Given the description of an element on the screen output the (x, y) to click on. 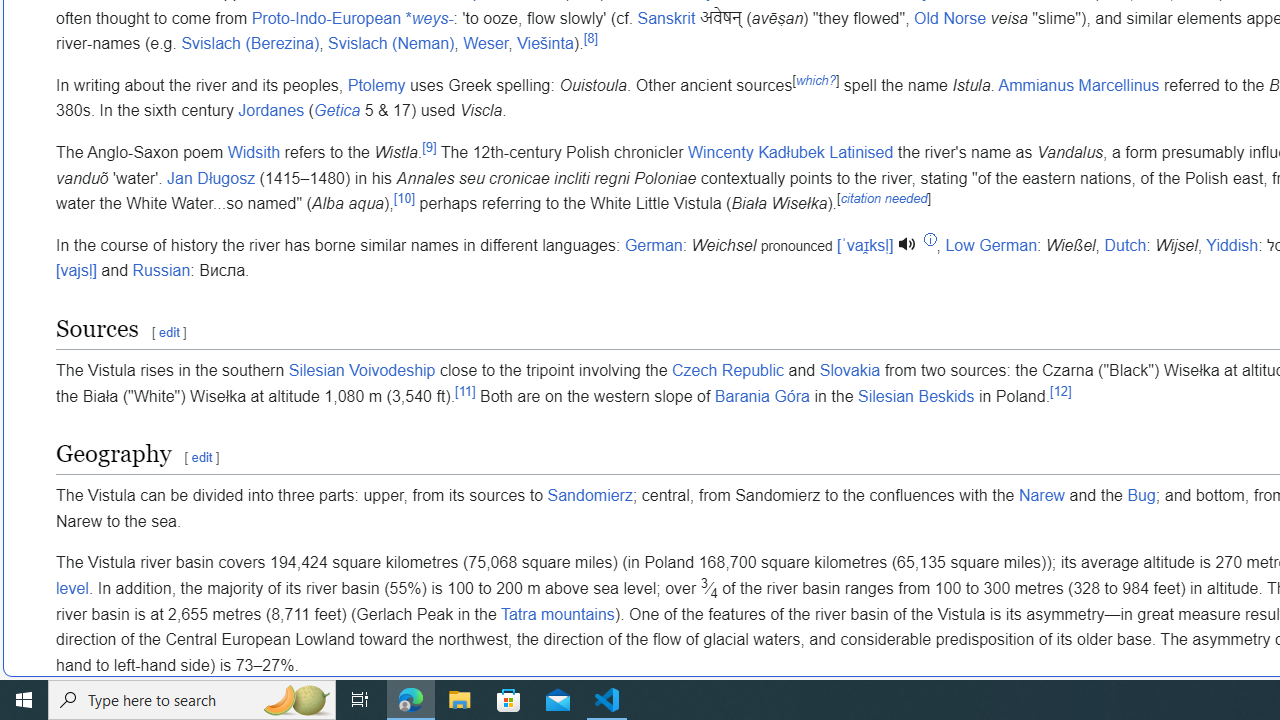
Dutch (1124, 245)
Silesian Voivodeship (362, 371)
Ptolemy (375, 85)
Narew (1041, 495)
citation needed (883, 197)
Sanskrit (666, 17)
Silesian Beskids (916, 395)
Czech Republic (728, 371)
[10] (404, 197)
Sandomierz (589, 495)
Yiddish (1232, 245)
